Given the description of an element on the screen output the (x, y) to click on. 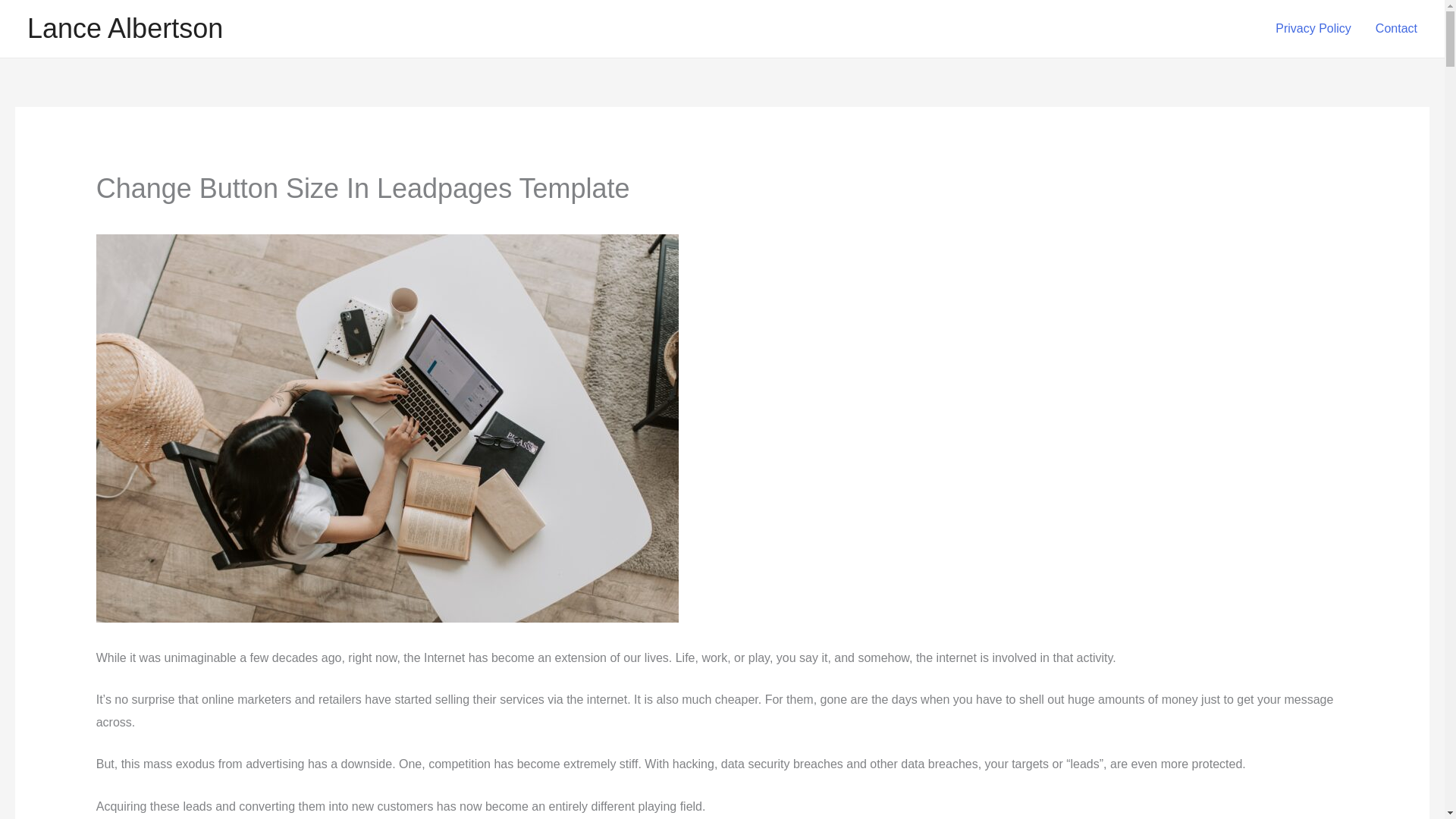
Lance Albertson (124, 28)
Privacy Policy (1312, 28)
Contact (1395, 28)
